Given the description of an element on the screen output the (x, y) to click on. 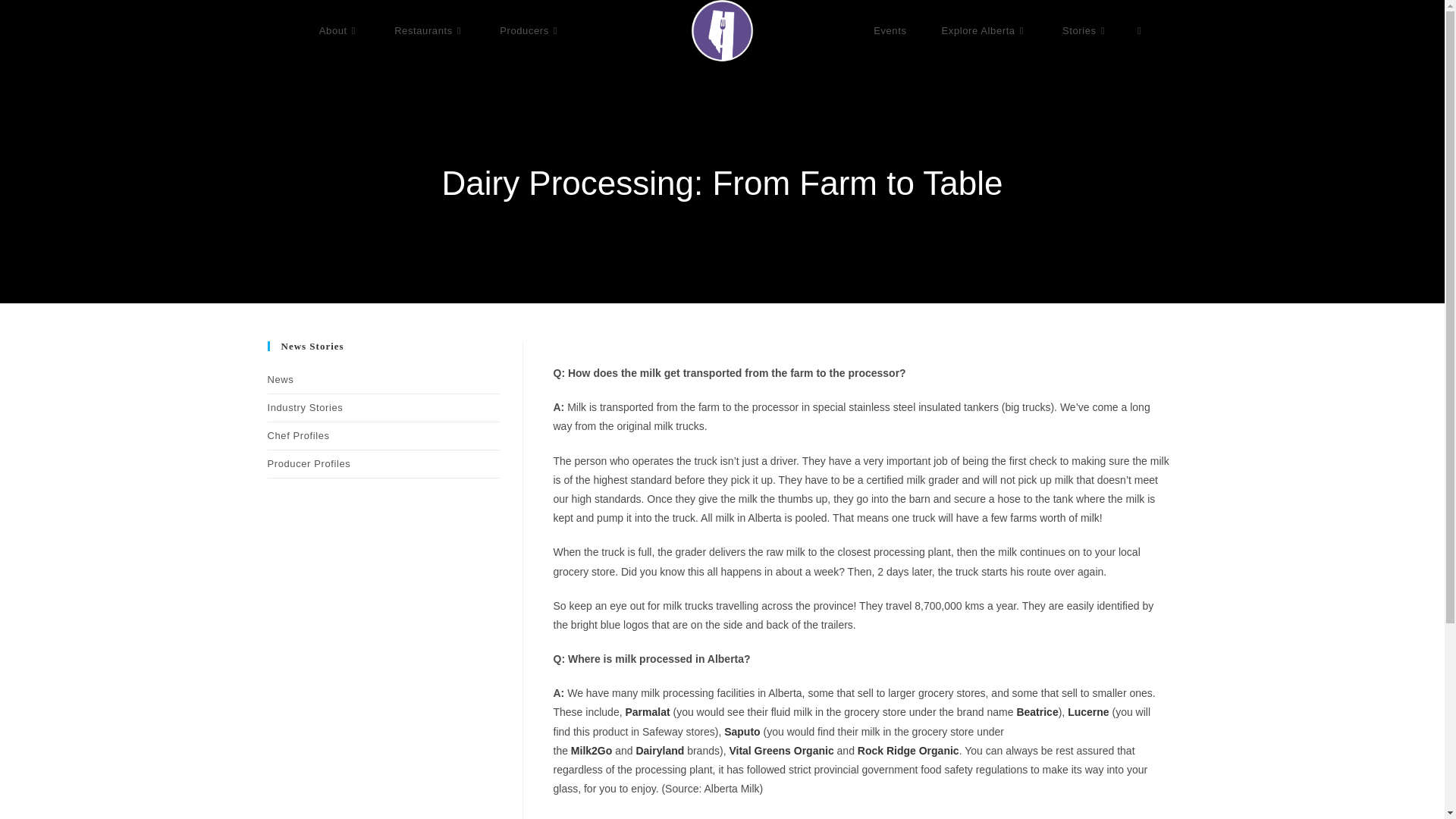
Events (889, 30)
Producers (529, 30)
Explore Alberta (984, 30)
Restaurants (429, 30)
About (339, 30)
Stories (1085, 30)
